Given the description of an element on the screen output the (x, y) to click on. 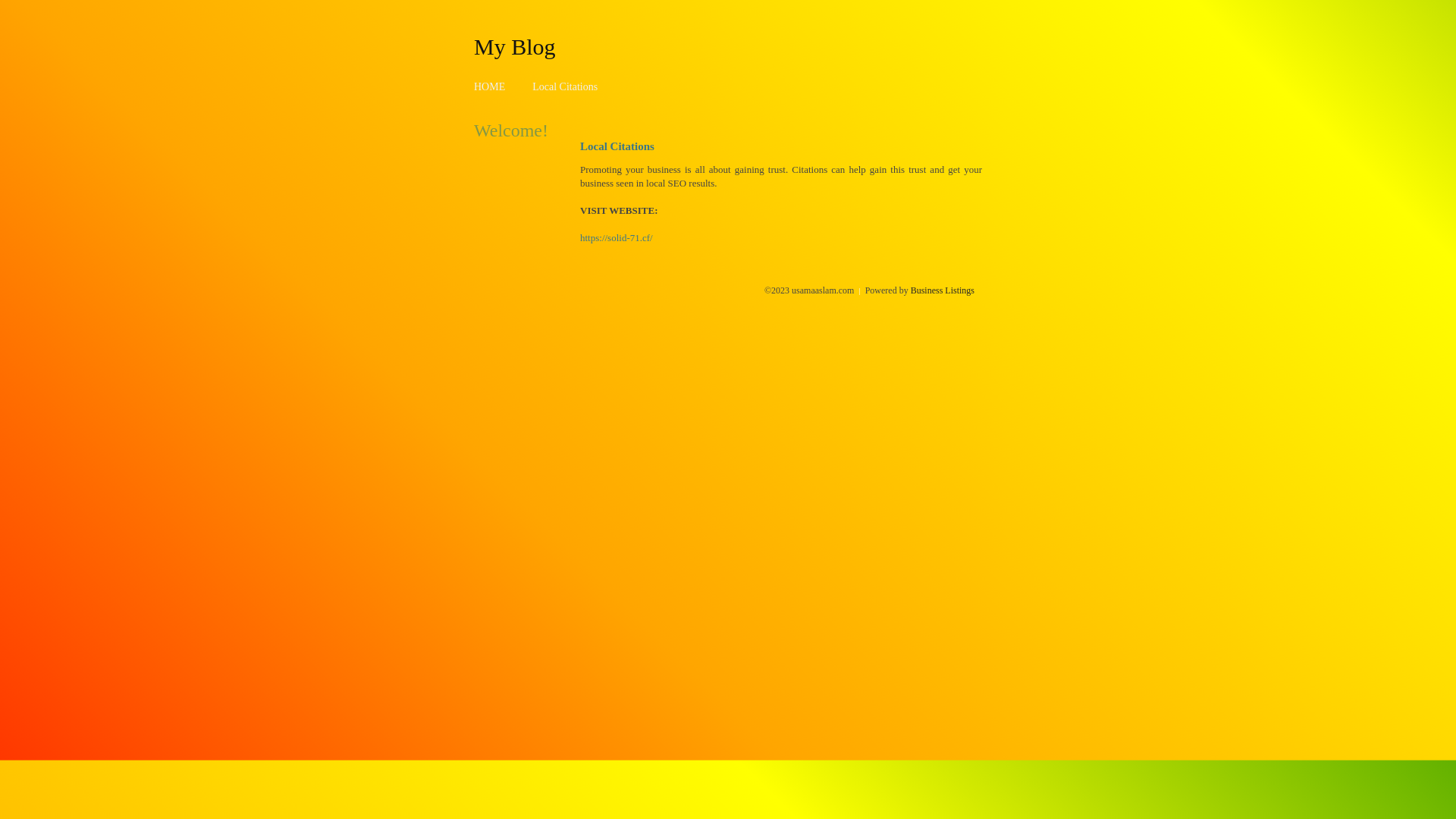
HOME Element type: text (489, 86)
My Blog Element type: text (514, 46)
Local Citations Element type: text (564, 86)
Business Listings Element type: text (942, 290)
https://solid-71.cf/ Element type: text (616, 237)
